Given the description of an element on the screen output the (x, y) to click on. 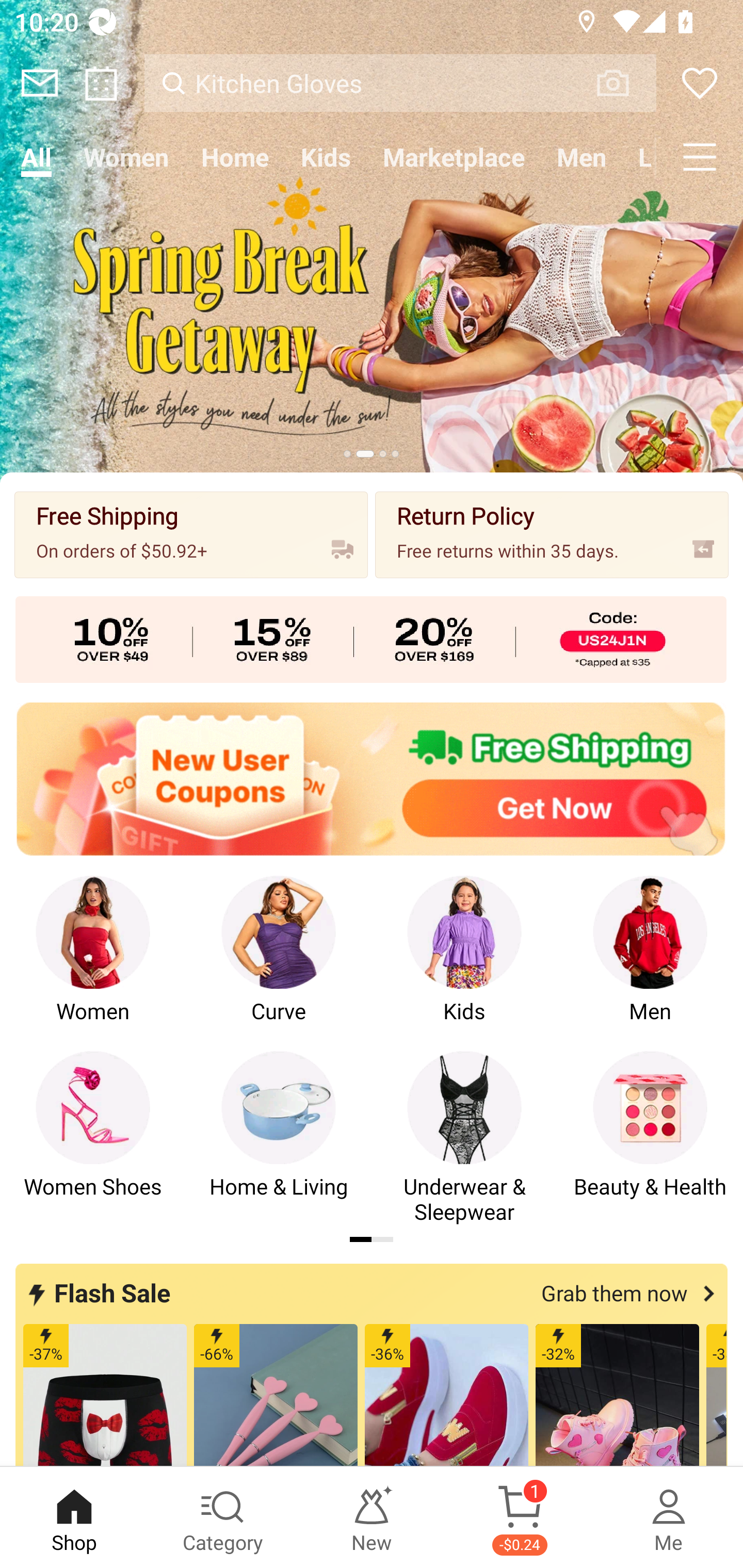
Wishlist (699, 82)
VISUAL SEARCH (623, 82)
All (36, 156)
Women (126, 156)
Home (234, 156)
Kids (325, 156)
Marketplace (453, 156)
Men (581, 156)
Free Shipping On orders of $50.92+ (190, 534)
Return Policy Free returns within 35 days. (551, 534)
Women (92, 962)
Curve (278, 962)
Kids (464, 962)
Men (650, 962)
Women Shoes (92, 1138)
Home & Living (278, 1138)
Underwear & Sleepwear (464, 1138)
Beauty & Health (650, 1138)
Category (222, 1517)
New (371, 1517)
Cart 1 -$0.24 (519, 1517)
Me (668, 1517)
